Given the description of an element on the screen output the (x, y) to click on. 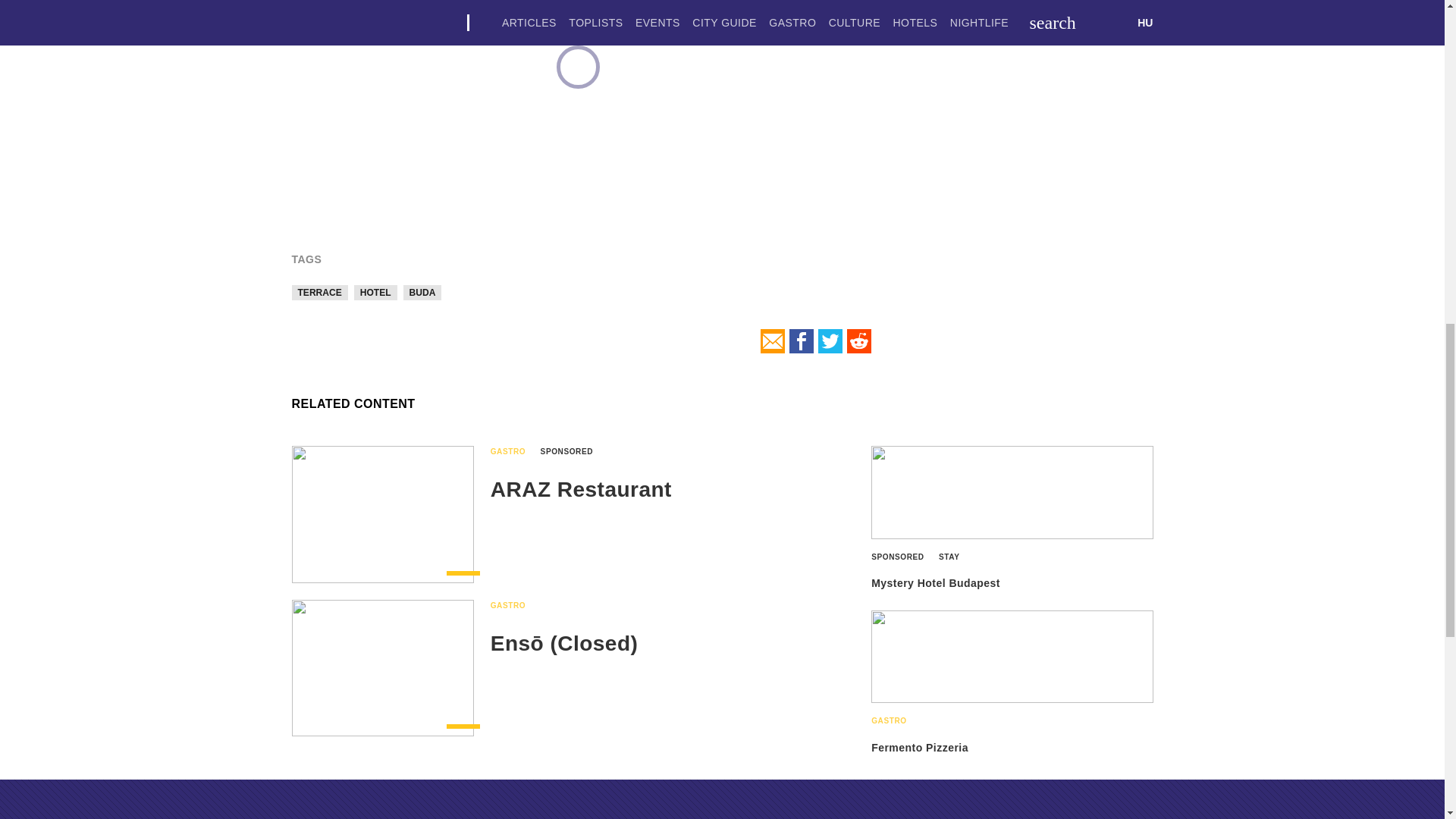
SPONSORED (572, 451)
STAY (955, 556)
BUDA (422, 293)
GASTRO (514, 605)
TERRACE (319, 293)
GASTRO (514, 451)
Mystery Hotel Budapest (935, 582)
HOTEL (375, 293)
ARAZ Restaurant (580, 489)
SPONSORED (903, 556)
